Given the description of an element on the screen output the (x, y) to click on. 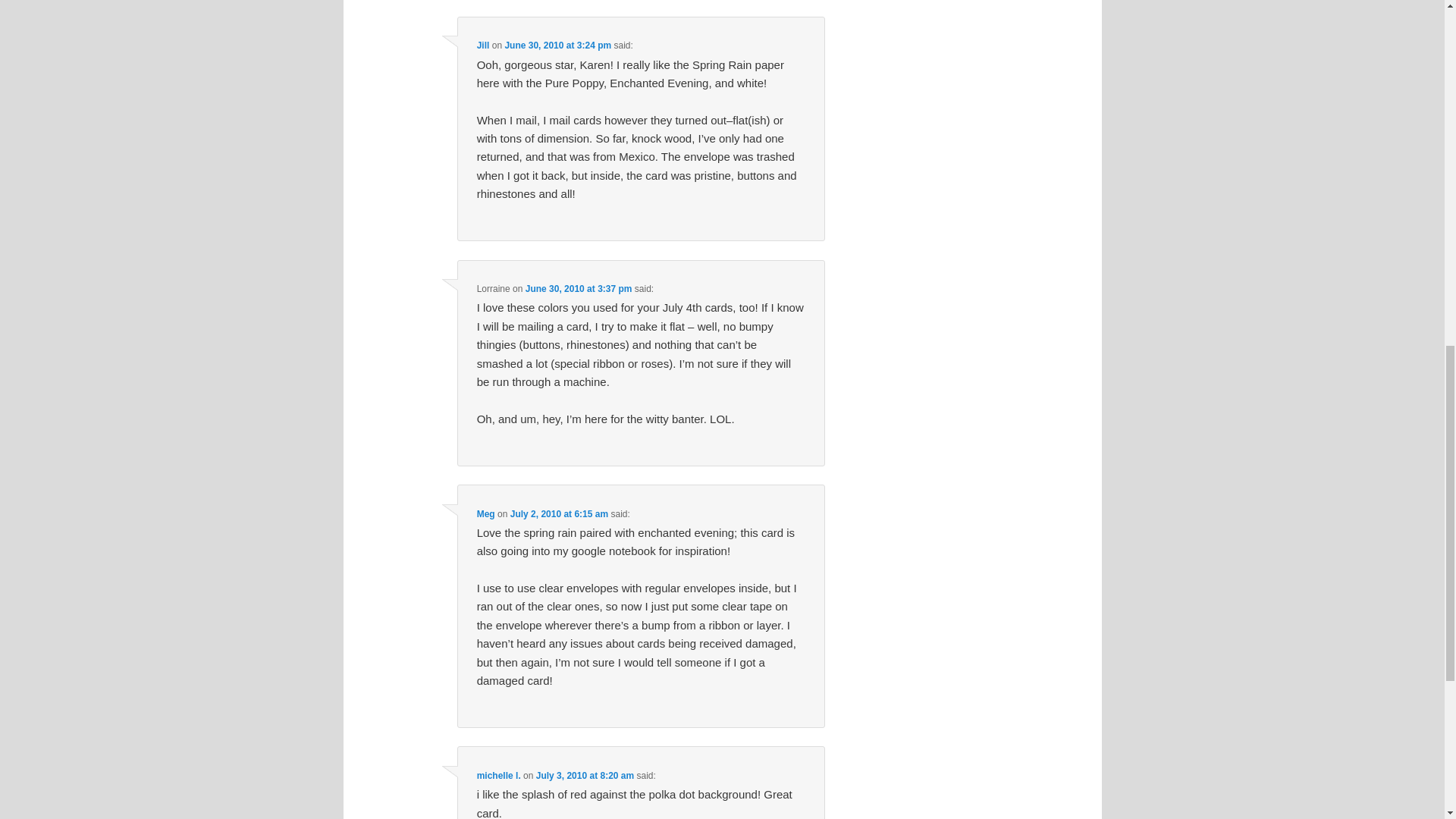
michelle l. (499, 775)
Meg (486, 513)
June 30, 2010 at 3:37 pm (578, 288)
July 3, 2010 at 8:20 am (584, 775)
June 30, 2010 at 3:24 pm (557, 45)
Jill (483, 45)
July 2, 2010 at 6:15 am (559, 513)
